Given the description of an element on the screen output the (x, y) to click on. 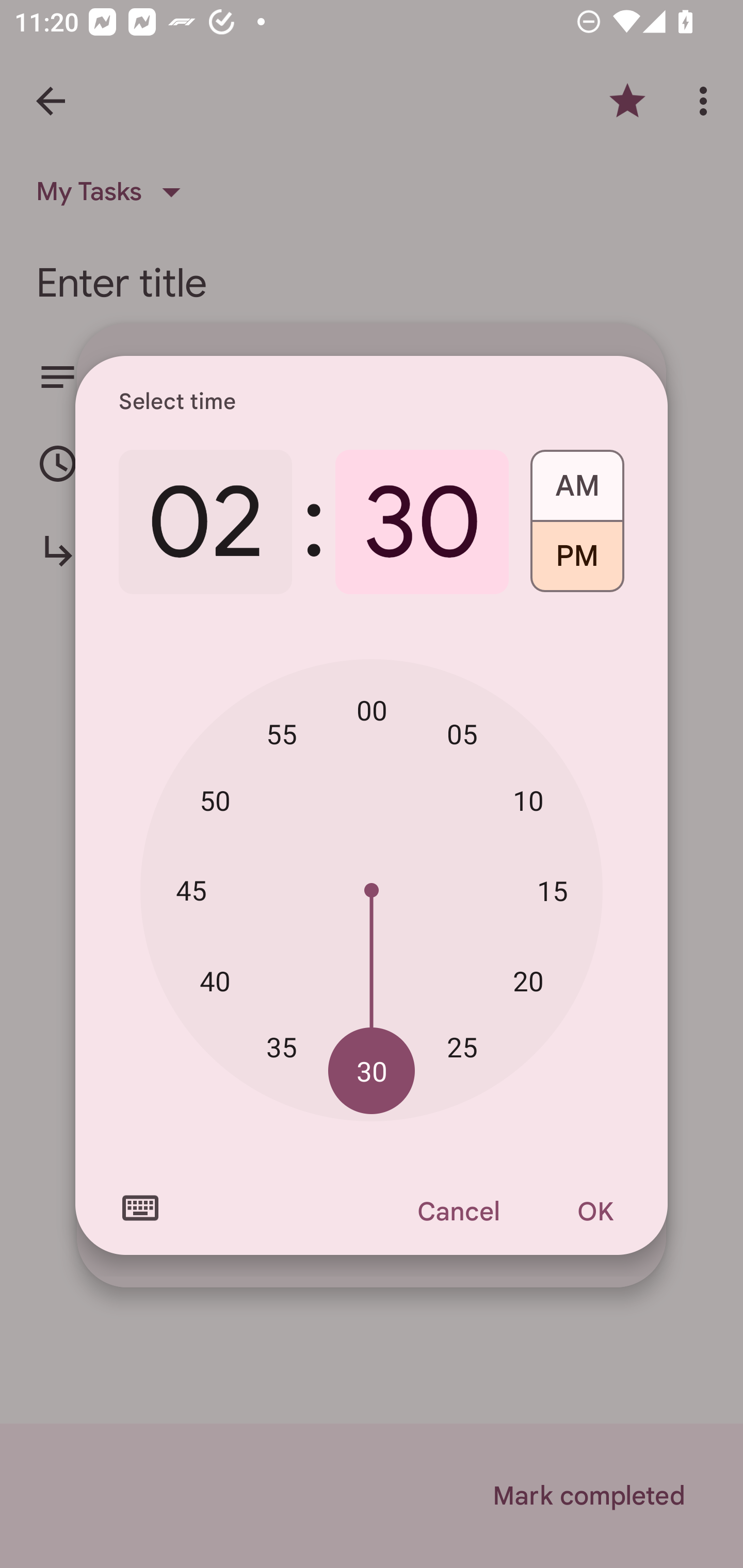
AM (577, 478)
02 2 o'clock (204, 522)
30 30 minutes (421, 522)
PM (577, 563)
00 00 minutes (371, 710)
55 55 minutes (281, 733)
05 05 minutes (462, 733)
50 50 minutes (214, 800)
10 10 minutes (528, 800)
45 45 minutes (190, 889)
15 15 minutes (551, 890)
40 40 minutes (214, 980)
20 20 minutes (528, 980)
35 35 minutes (281, 1046)
25 25 minutes (462, 1046)
30 30 minutes (371, 1071)
Switch to text input mode for the time input. (140, 1208)
Cancel (458, 1211)
OK (595, 1211)
